Given the description of an element on the screen output the (x, y) to click on. 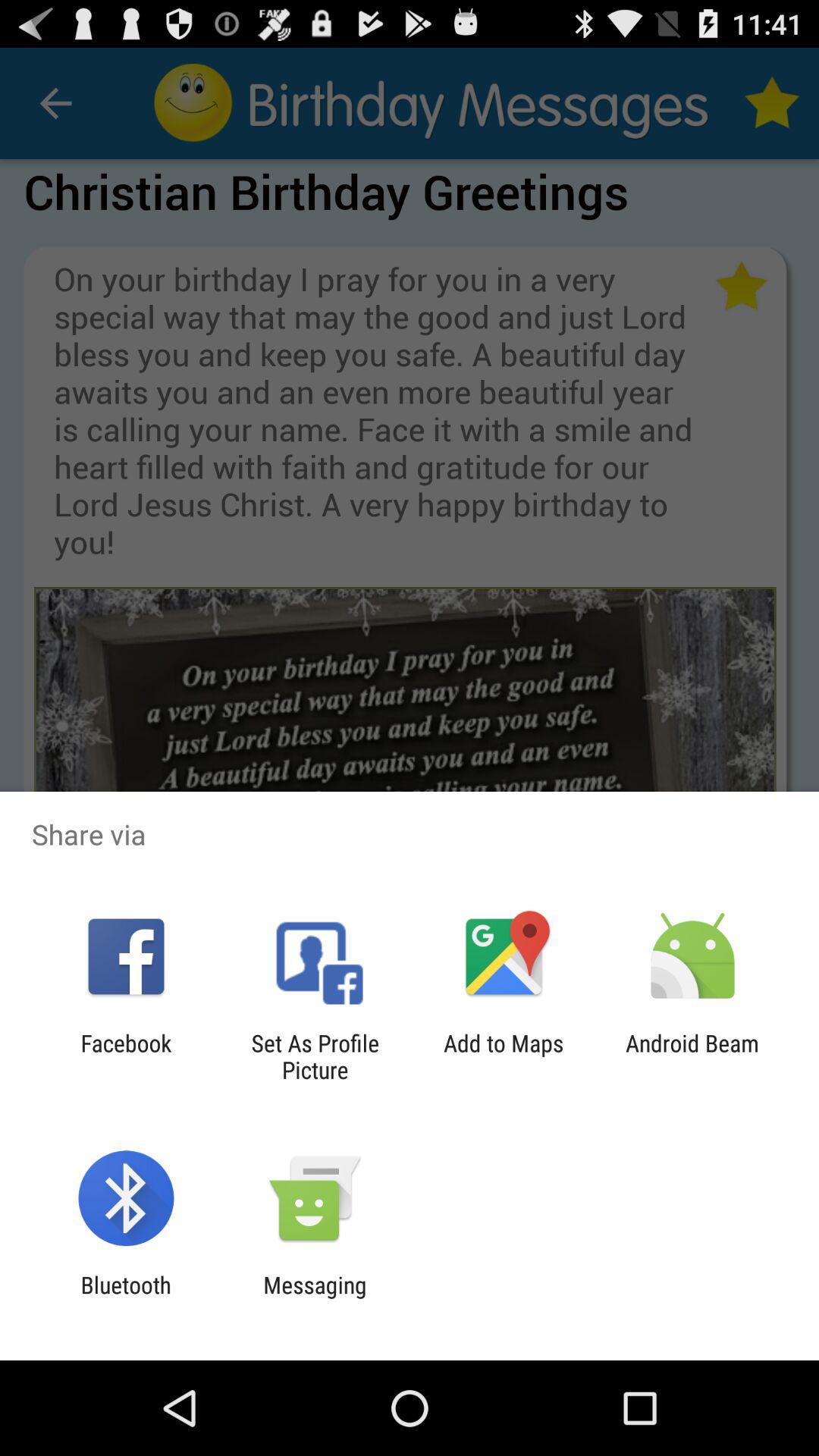
launch the icon to the right of the bluetooth app (314, 1298)
